Given the description of an element on the screen output the (x, y) to click on. 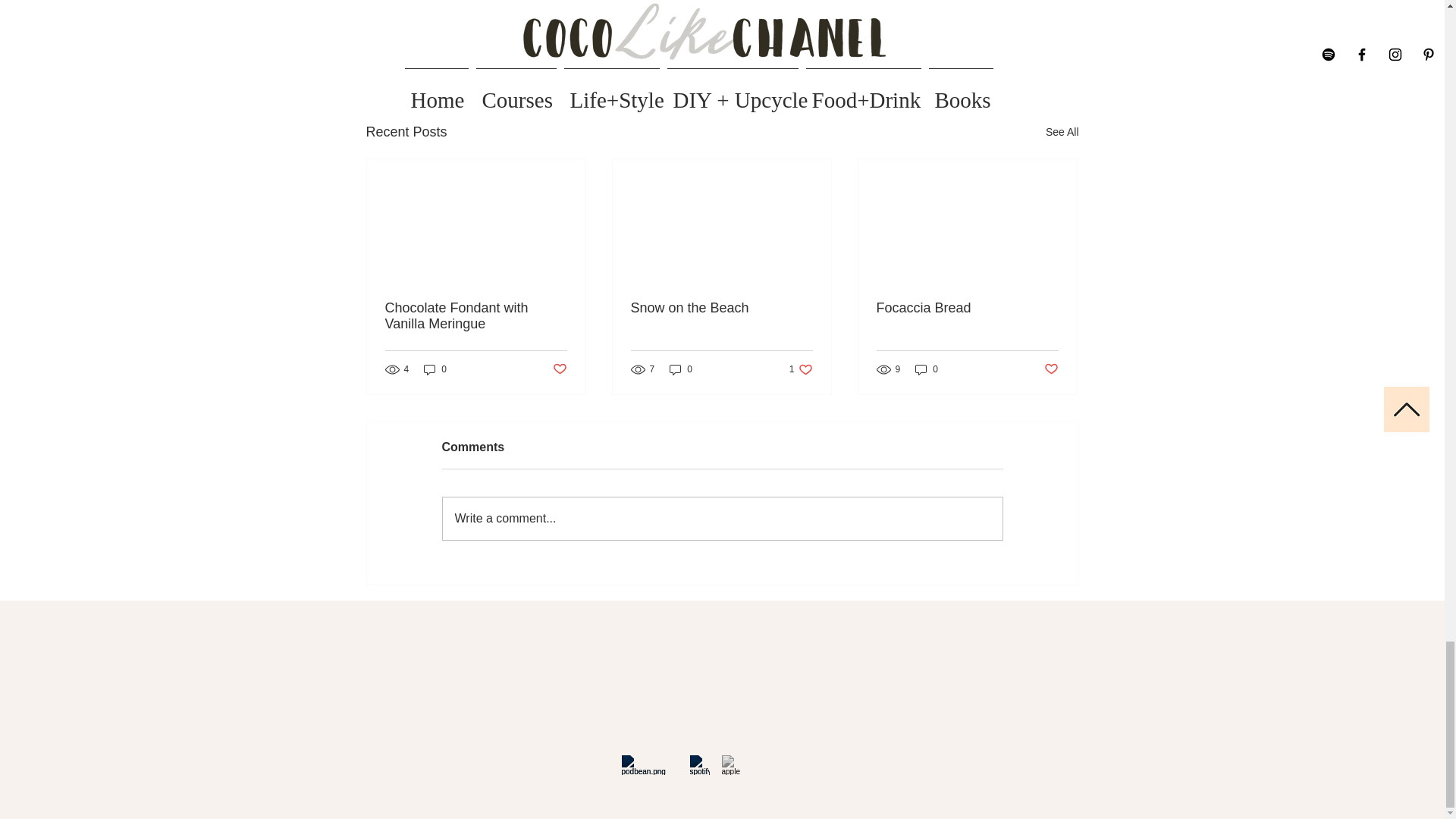
0 (435, 369)
Post not marked as liked (990, 49)
Snow on the Beach (558, 369)
Chocolate Fondant with Vanilla Meringue (721, 308)
0 (476, 316)
Post not marked as liked (800, 369)
Write a comment... (926, 369)
Focaccia Bread (1050, 369)
See All (722, 518)
0 (967, 308)
